Given the description of an element on the screen output the (x, y) to click on. 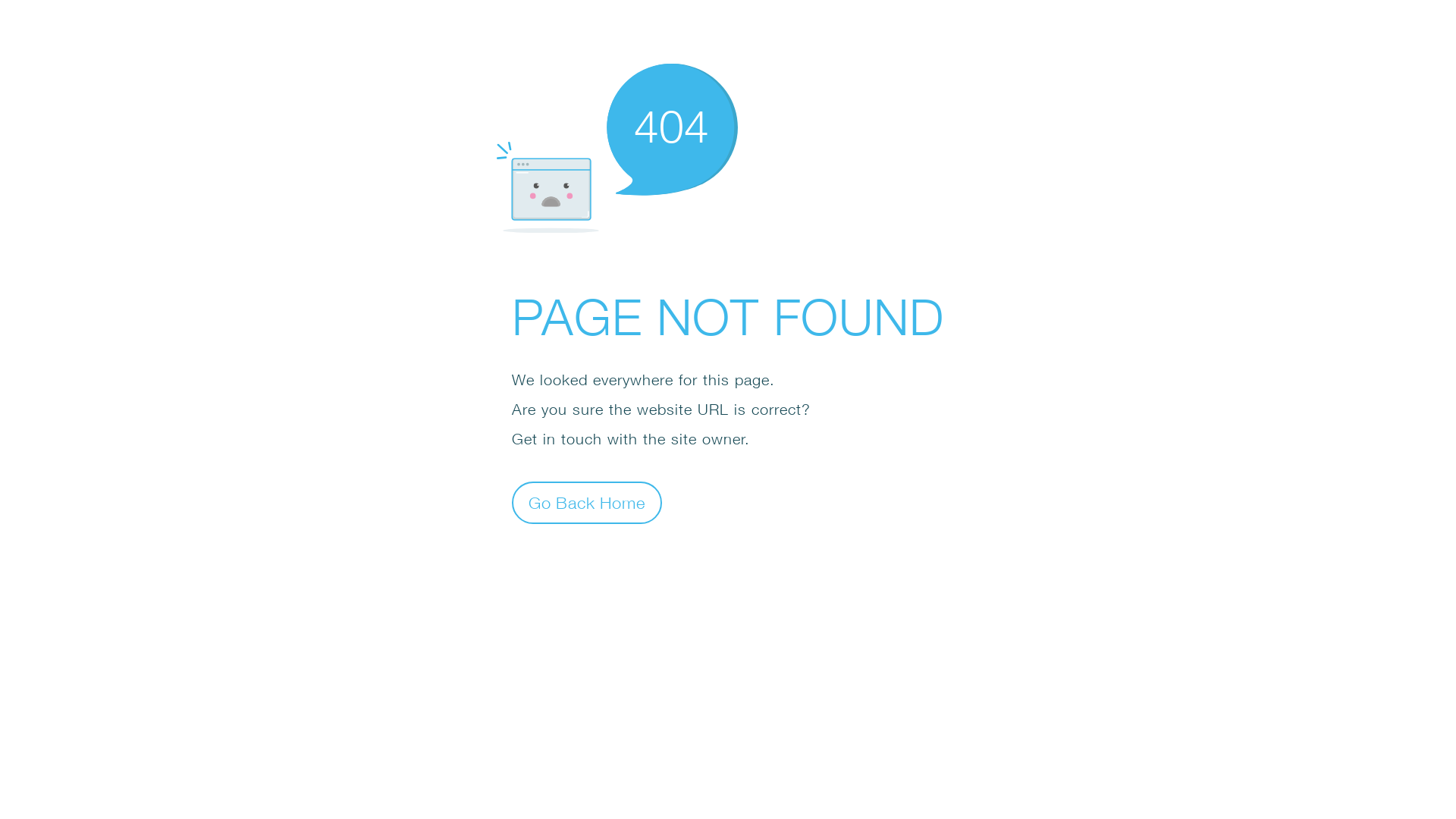
Go Back Home Element type: text (586, 502)
